Given the description of an element on the screen output the (x, y) to click on. 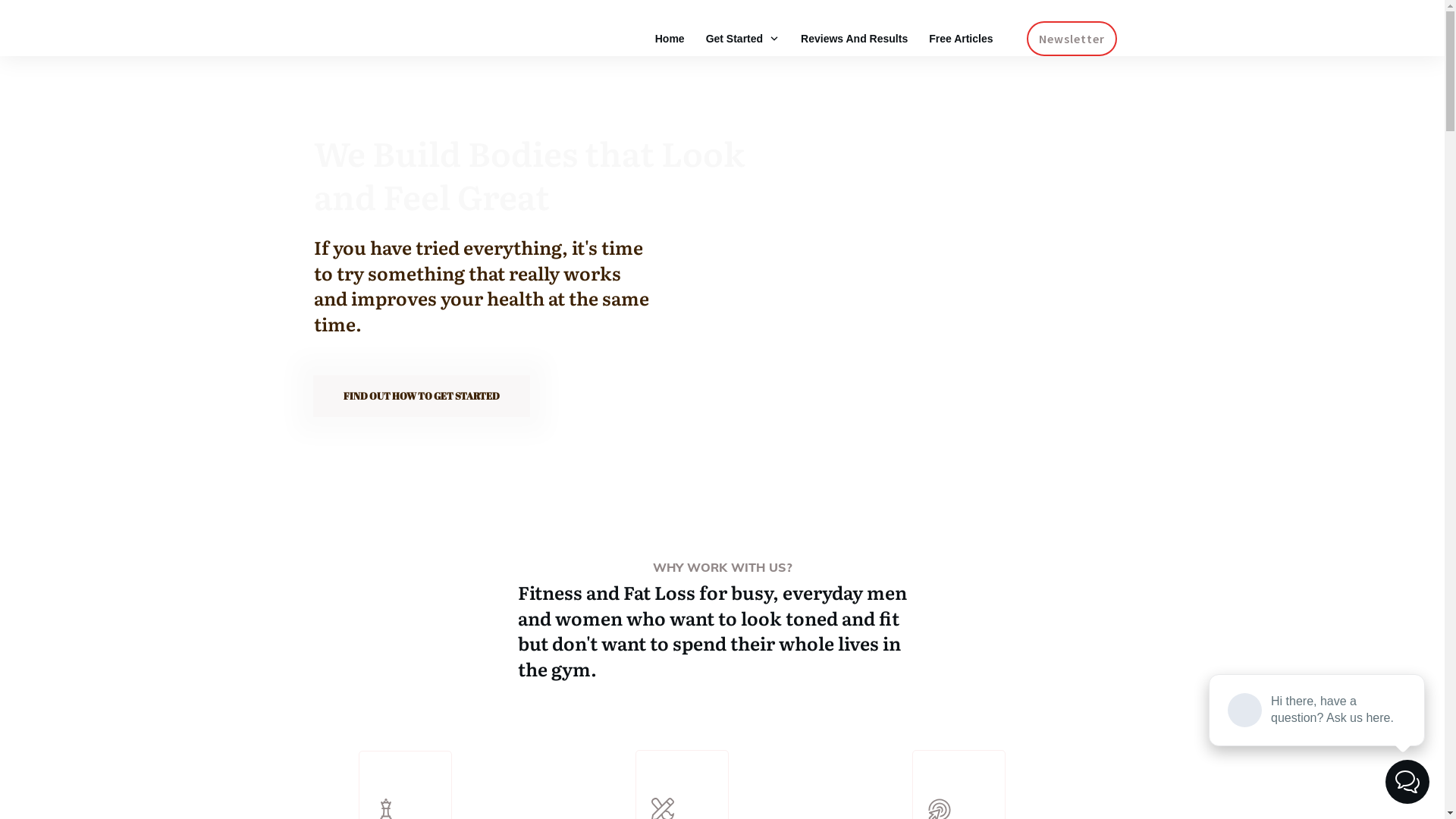
Get Started Element type: text (742, 38)
Free Articles Element type: text (960, 38)
Reviews And Results Element type: text (853, 38)
FIND OUT HOW TO GET STARTED Element type: text (420, 396)
Home Element type: text (669, 38)
Newsletter Element type: text (1071, 38)
